Given the description of an element on the screen output the (x, y) to click on. 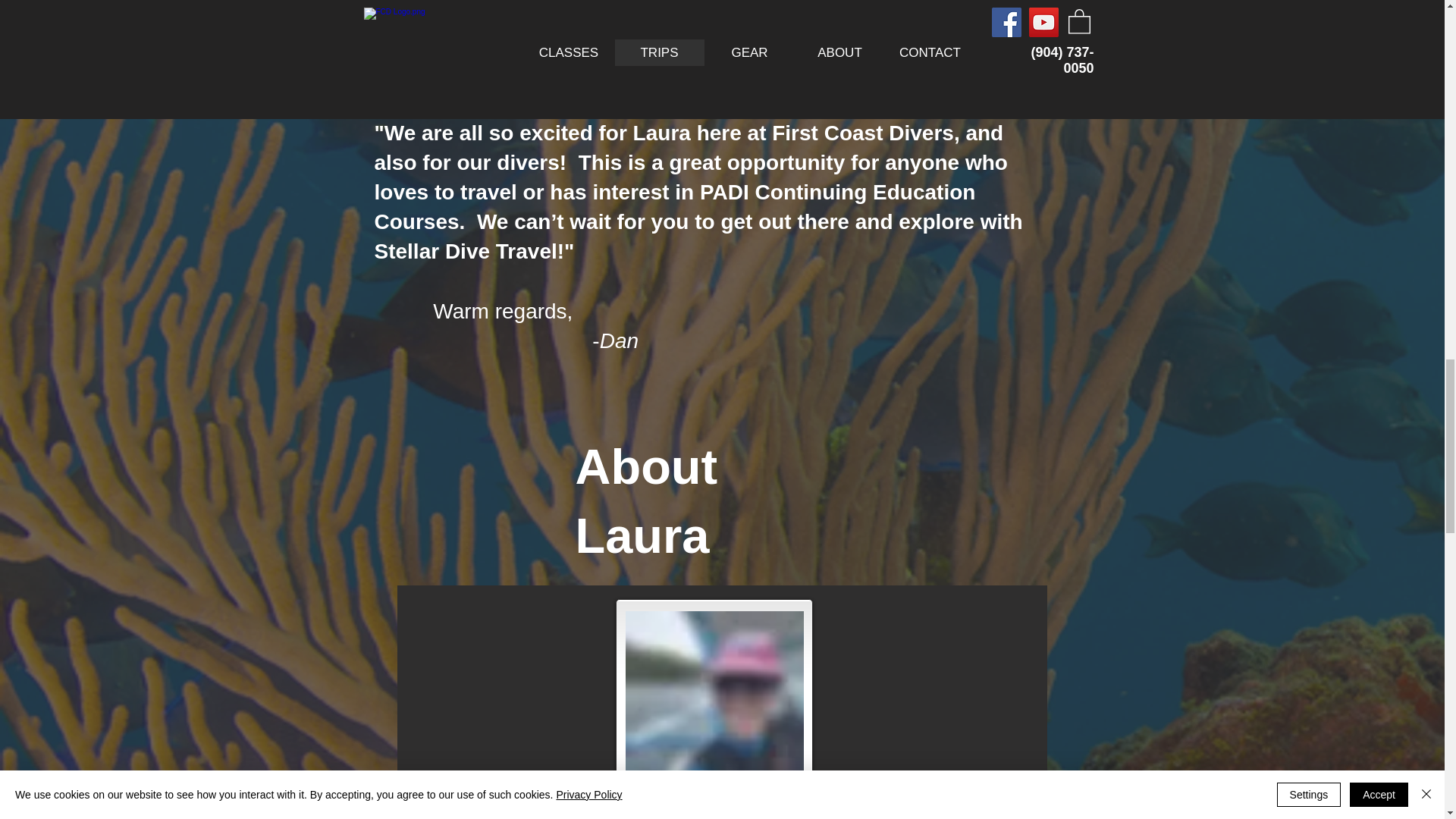
Riviera Beach Trip (960, 17)
